Given the description of an element on the screen output the (x, y) to click on. 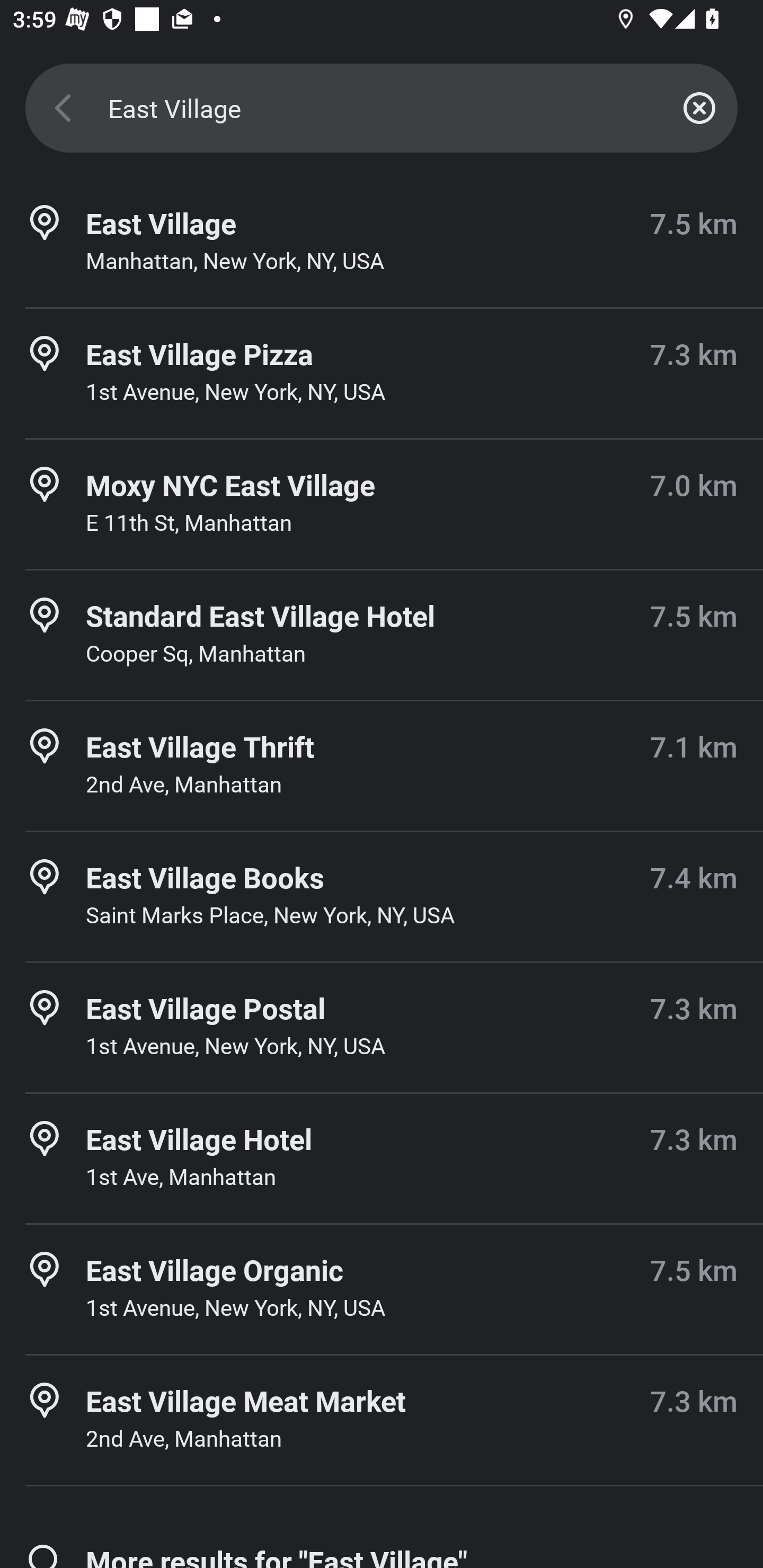
East Village SEARCH_SCREEN_SEARCH_FIELD (381, 108)
East Village 7.5 km Manhattan, New York, NY, USA (381, 242)
Moxy NYC East Village 7.0 km E 11th St, Manhattan (381, 504)
East Village Thrift 7.1 km 2nd Ave, Manhattan (381, 765)
East Village Hotel 7.3 km 1st Ave, Manhattan (381, 1158)
East Village Meat Market 7.3 km 2nd Ave, Manhattan (381, 1420)
